Given the description of an element on the screen output the (x, y) to click on. 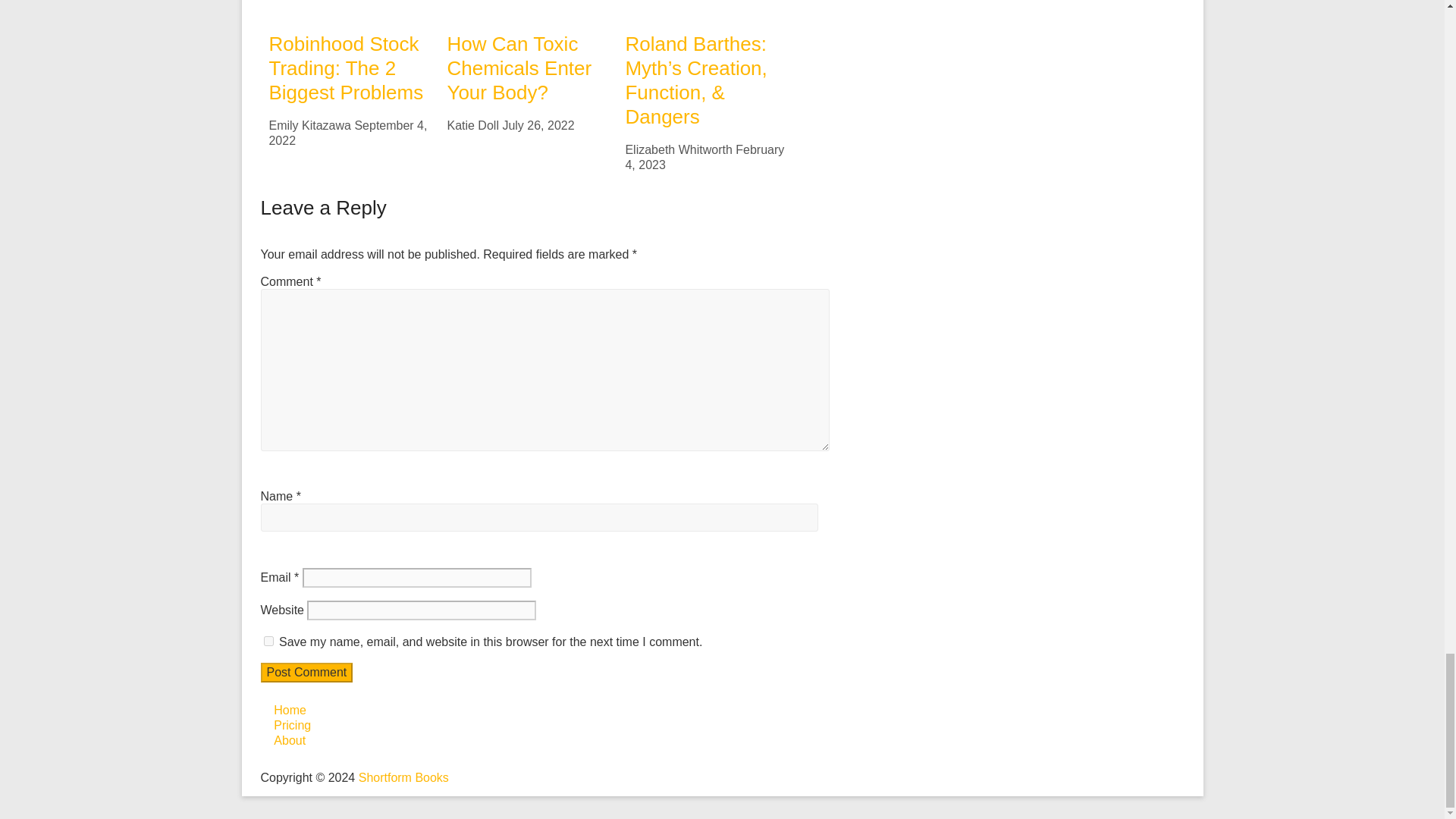
Post Comment (306, 672)
yes (268, 641)
